Given the description of an element on the screen output the (x, y) to click on. 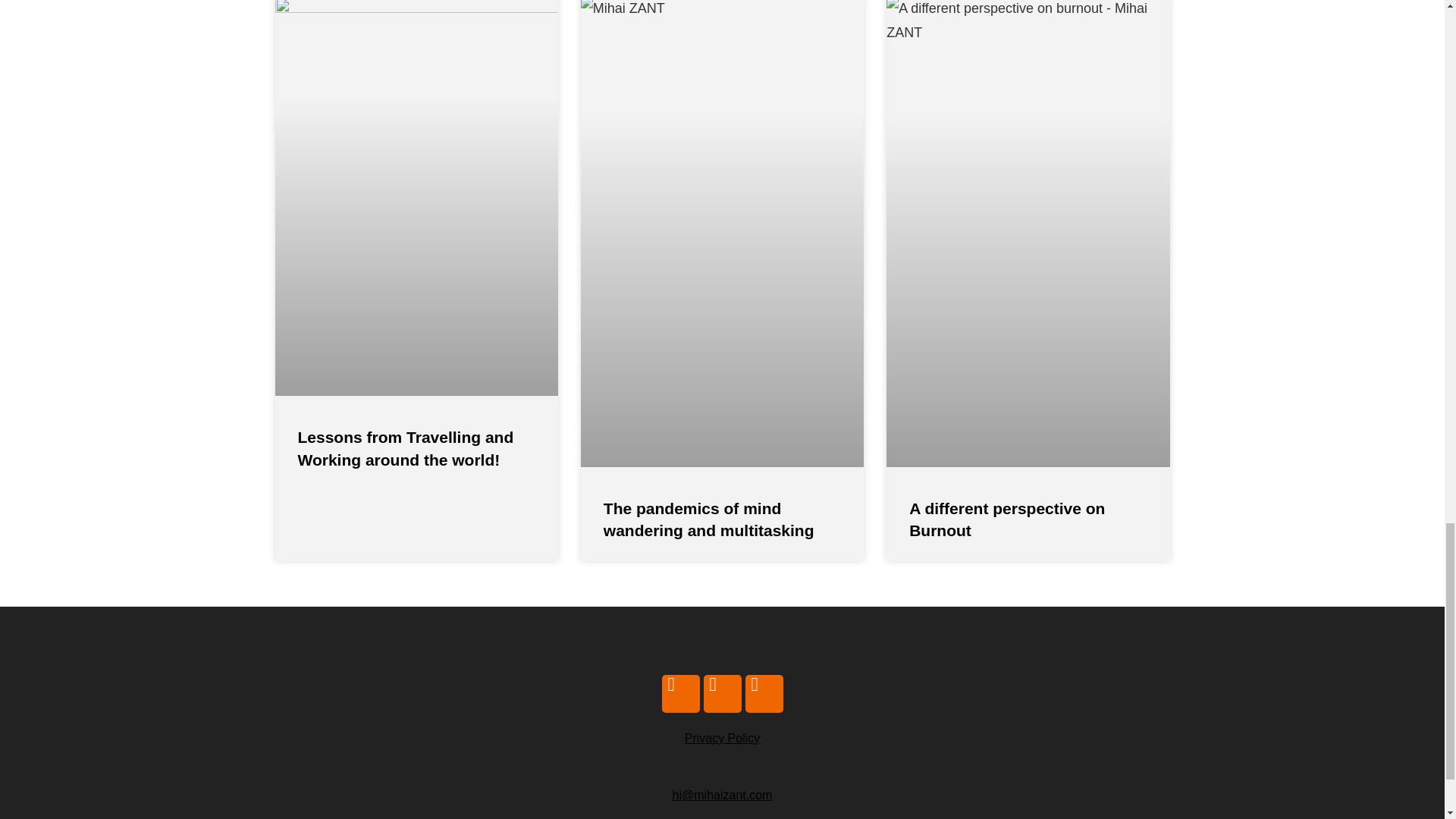
A different perspective on Burnout (1006, 518)
The pandemics of mind wandering and multitasking (708, 518)
Lessons from Travelling and Working around the world! (405, 447)
Privacy Policy (722, 738)
